Given the description of an element on the screen output the (x, y) to click on. 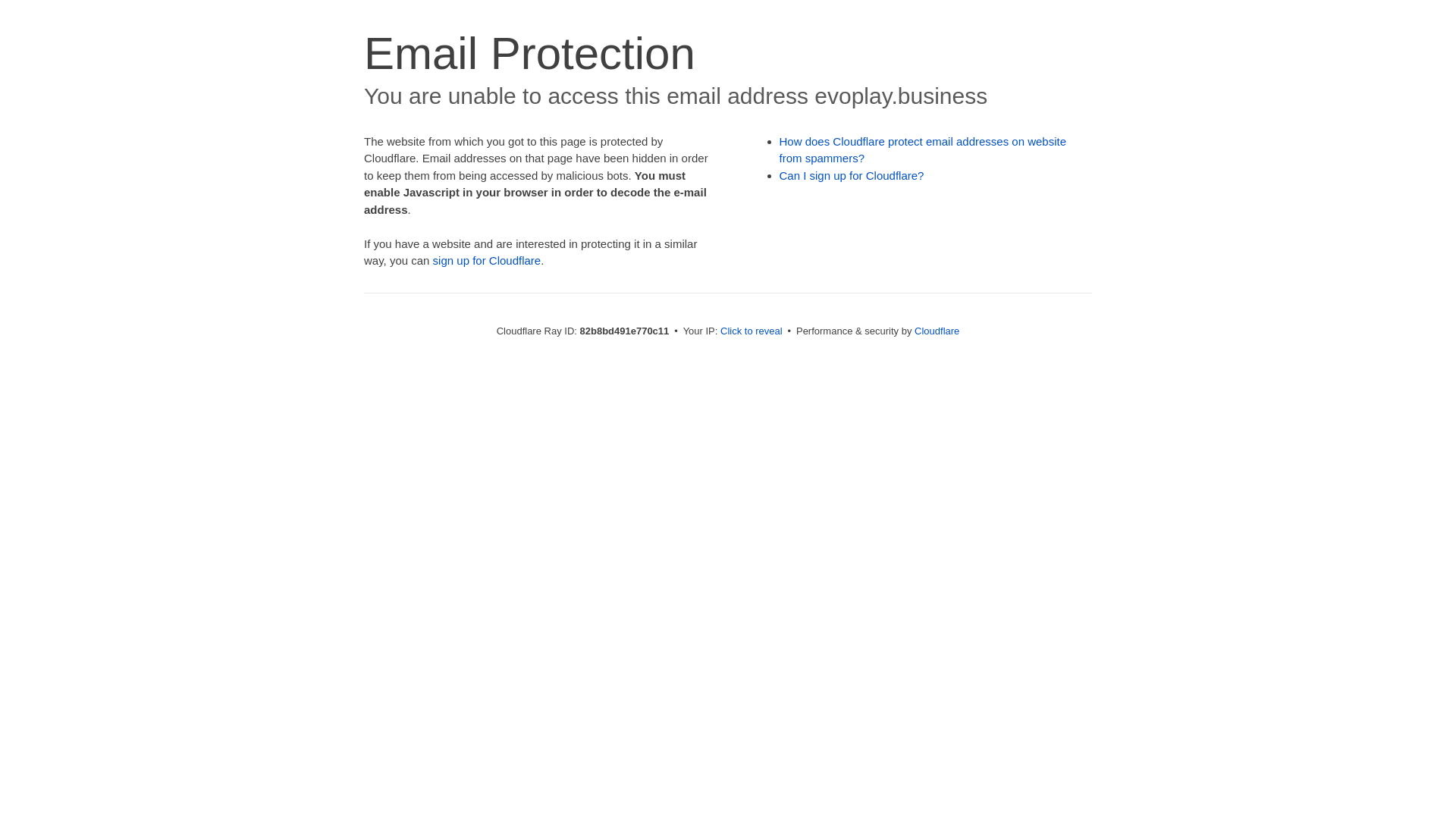
sign up for Cloudflare Element type: text (487, 260)
Cloudflare Element type: text (936, 330)
Click to reveal Element type: text (751, 330)
Can I sign up for Cloudflare? Element type: text (851, 175)
